Given the description of an element on the screen output the (x, y) to click on. 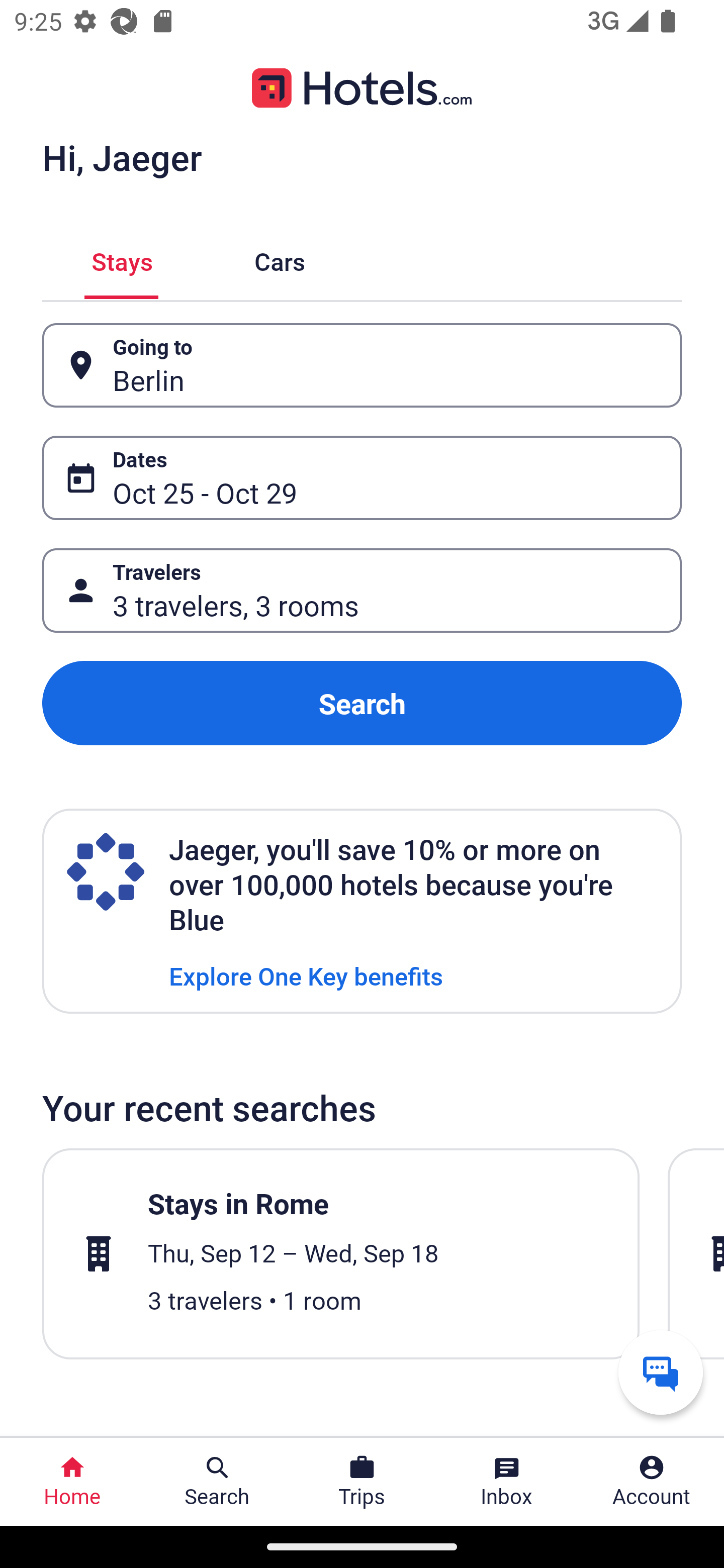
Hi, Jaeger (121, 156)
Cars (279, 259)
Going to Button Berlin (361, 365)
Dates Button Oct 25 - Oct 29 (361, 477)
Travelers Button 3 travelers, 3 rooms (361, 590)
Search (361, 702)
Get help from a virtual agent (660, 1371)
Search Search Button (216, 1481)
Trips Trips Button (361, 1481)
Inbox Inbox Button (506, 1481)
Account Profile. Button (651, 1481)
